Given the description of an element on the screen output the (x, y) to click on. 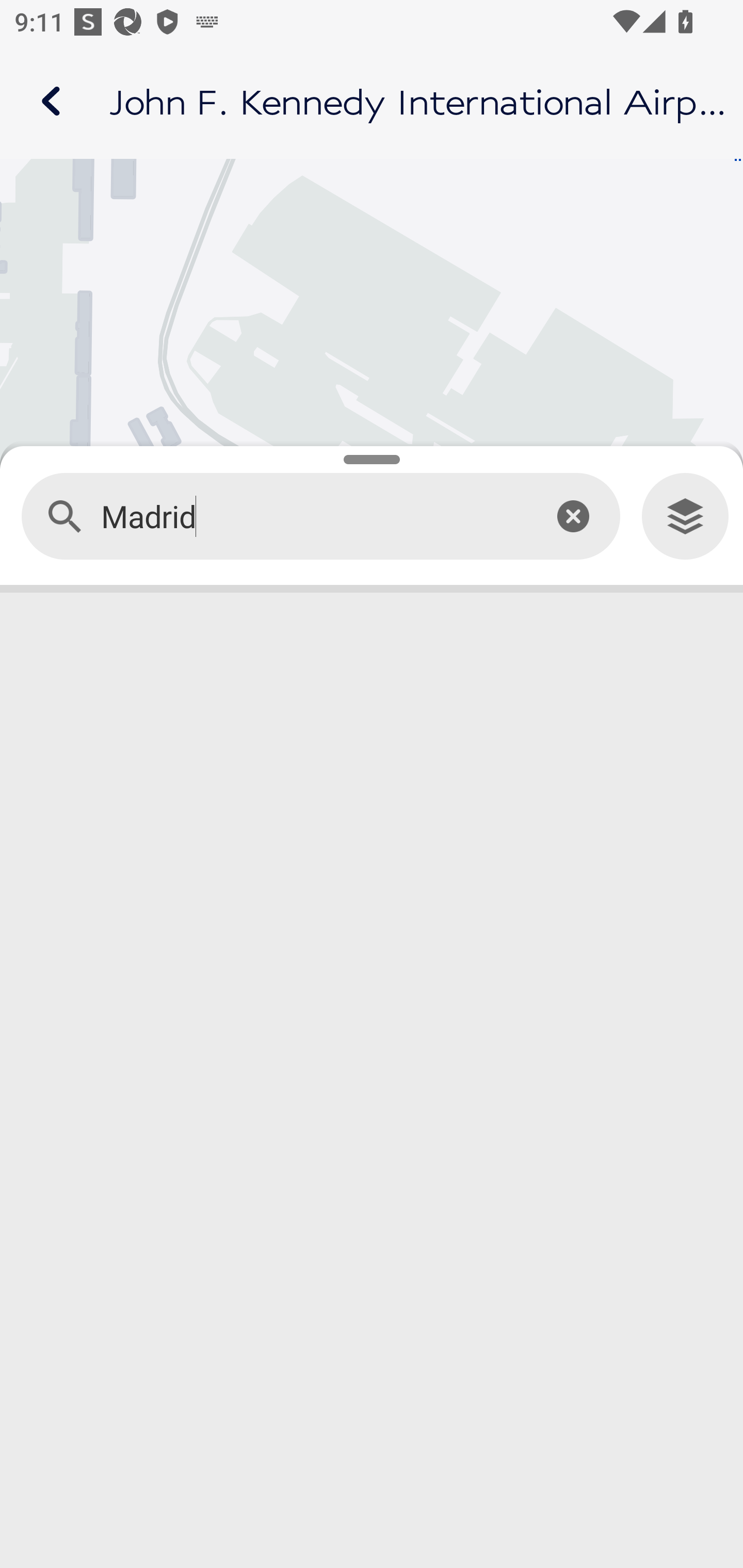
Airport map (371, 100)
Madrid (311, 516)
Levels (684, 516)
This is an icon for clearing the text field. (573, 515)
